Given the description of an element on the screen output the (x, y) to click on. 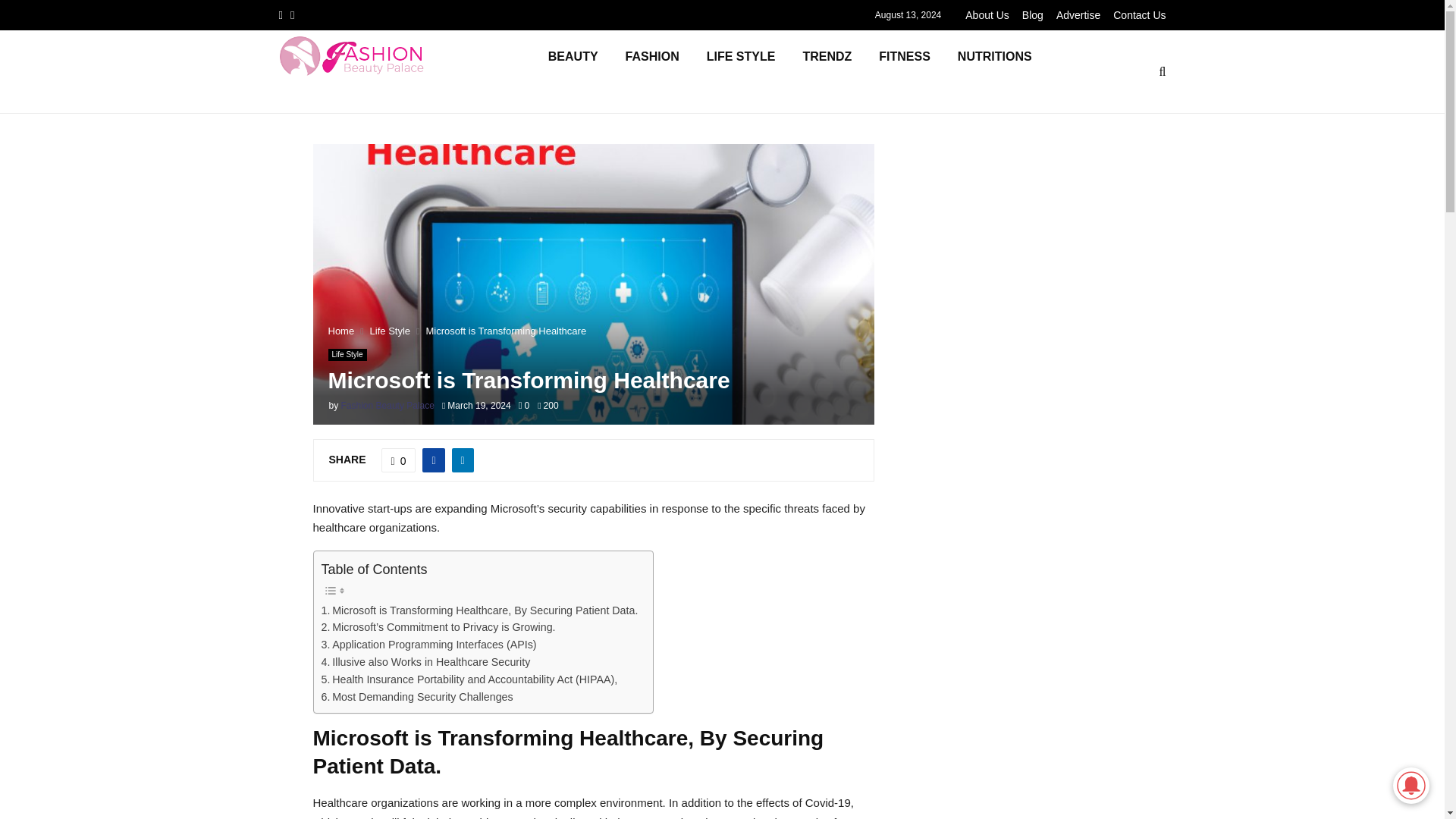
Microsoft is Transforming Healthcare (505, 330)
Fashion Beauty Palace (386, 405)
Life Style (389, 330)
About Us (987, 15)
NUTRITIONS (994, 71)
LIFE STYLE (741, 71)
0 (398, 459)
Contact Us (1139, 15)
Home (340, 330)
Like (398, 459)
